Given the description of an element on the screen output the (x, y) to click on. 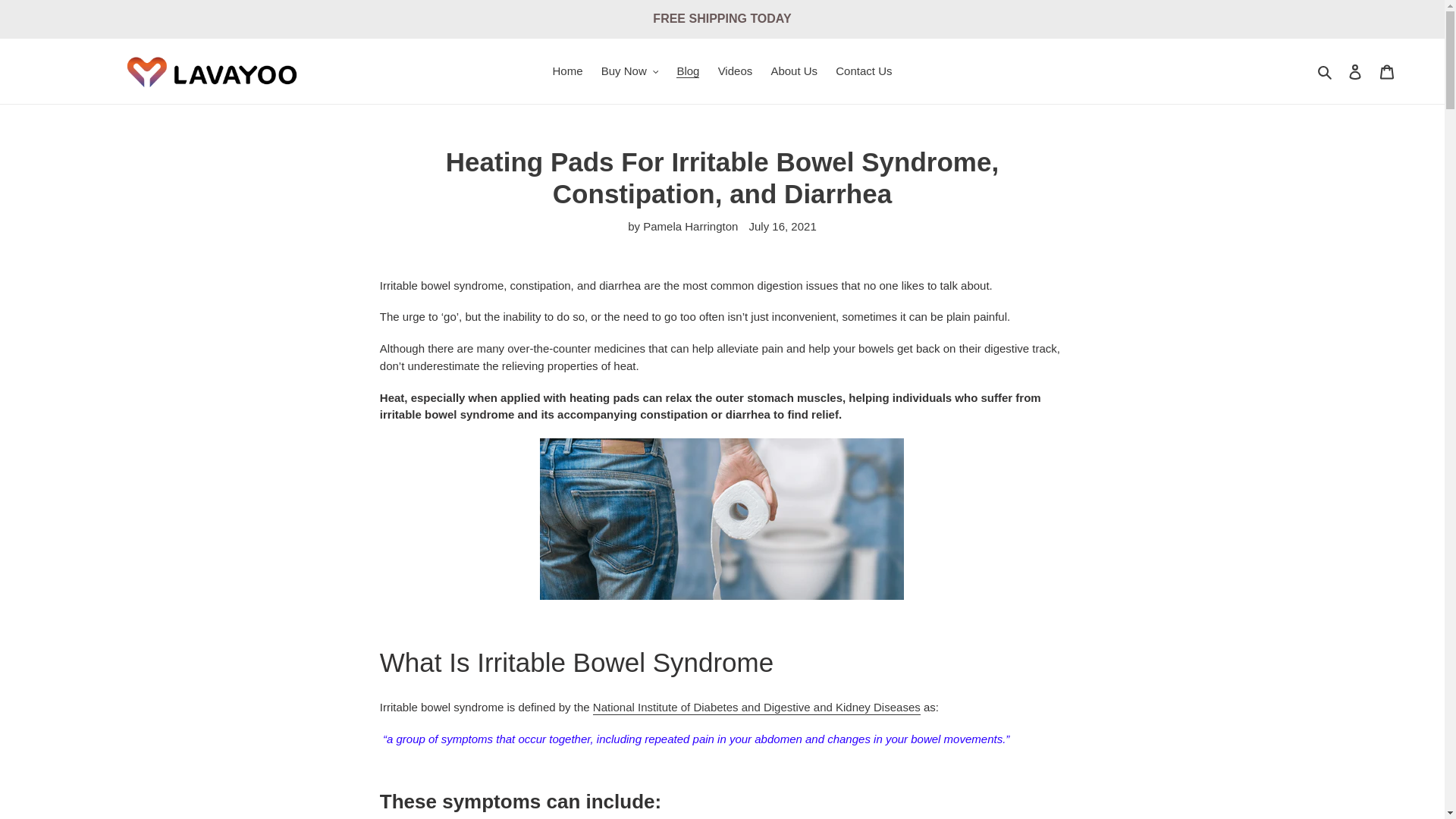
Buy Now (630, 71)
Log in (1355, 71)
Blog (687, 71)
Videos (735, 71)
Search (1326, 71)
Home (567, 71)
About Us (793, 71)
Cart (1387, 71)
Contact Us (863, 71)
